Given the description of an element on the screen output the (x, y) to click on. 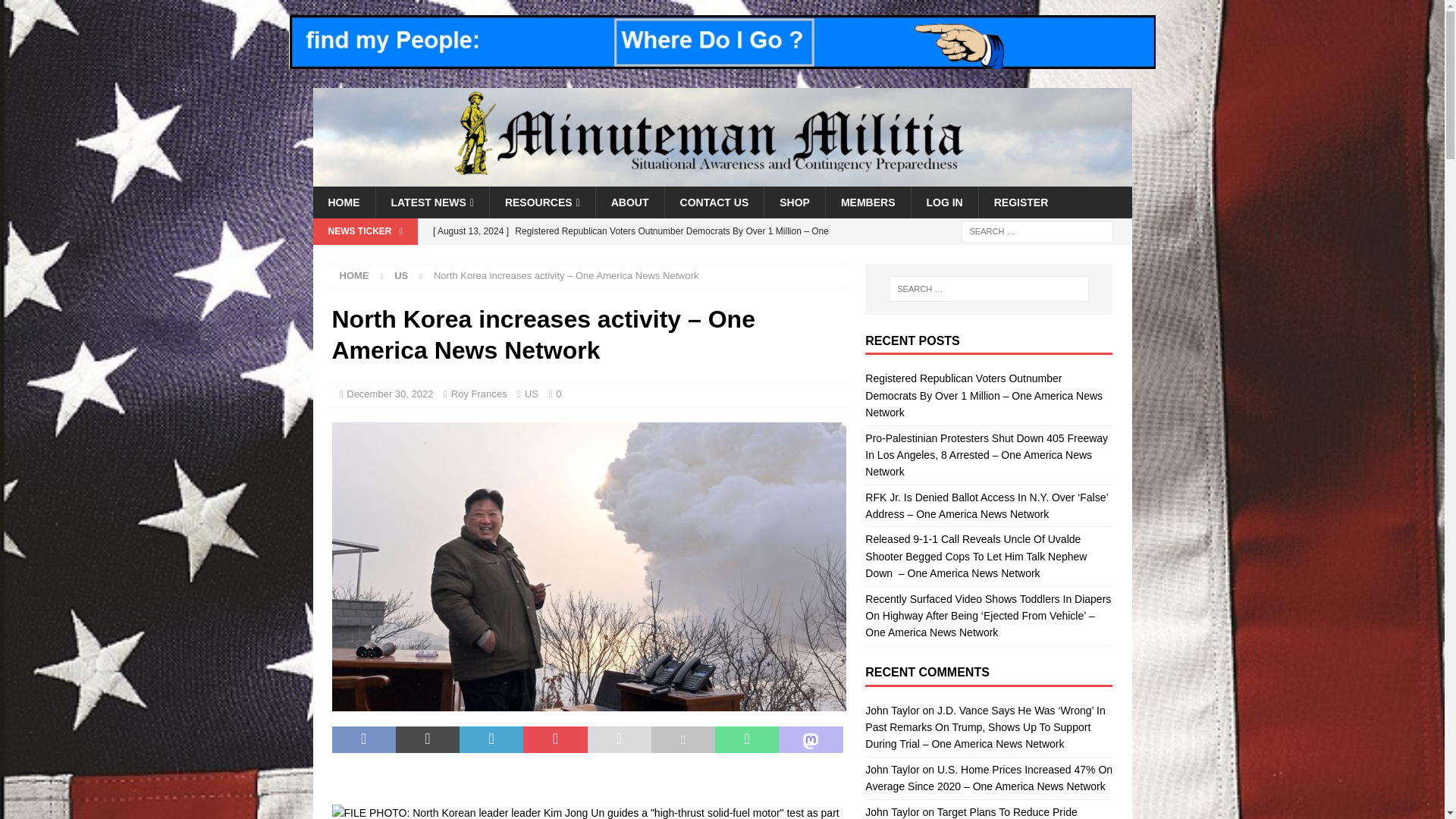
Tweet This Post (428, 739)
Share on LinkedIn (491, 739)
CONTACT US (713, 202)
Send this article to a friend (619, 739)
Print this article (682, 739)
LATEST NEWS (430, 202)
SHOP (793, 202)
US (400, 275)
Pin This Post (554, 739)
HOME (343, 202)
